Given the description of an element on the screen output the (x, y) to click on. 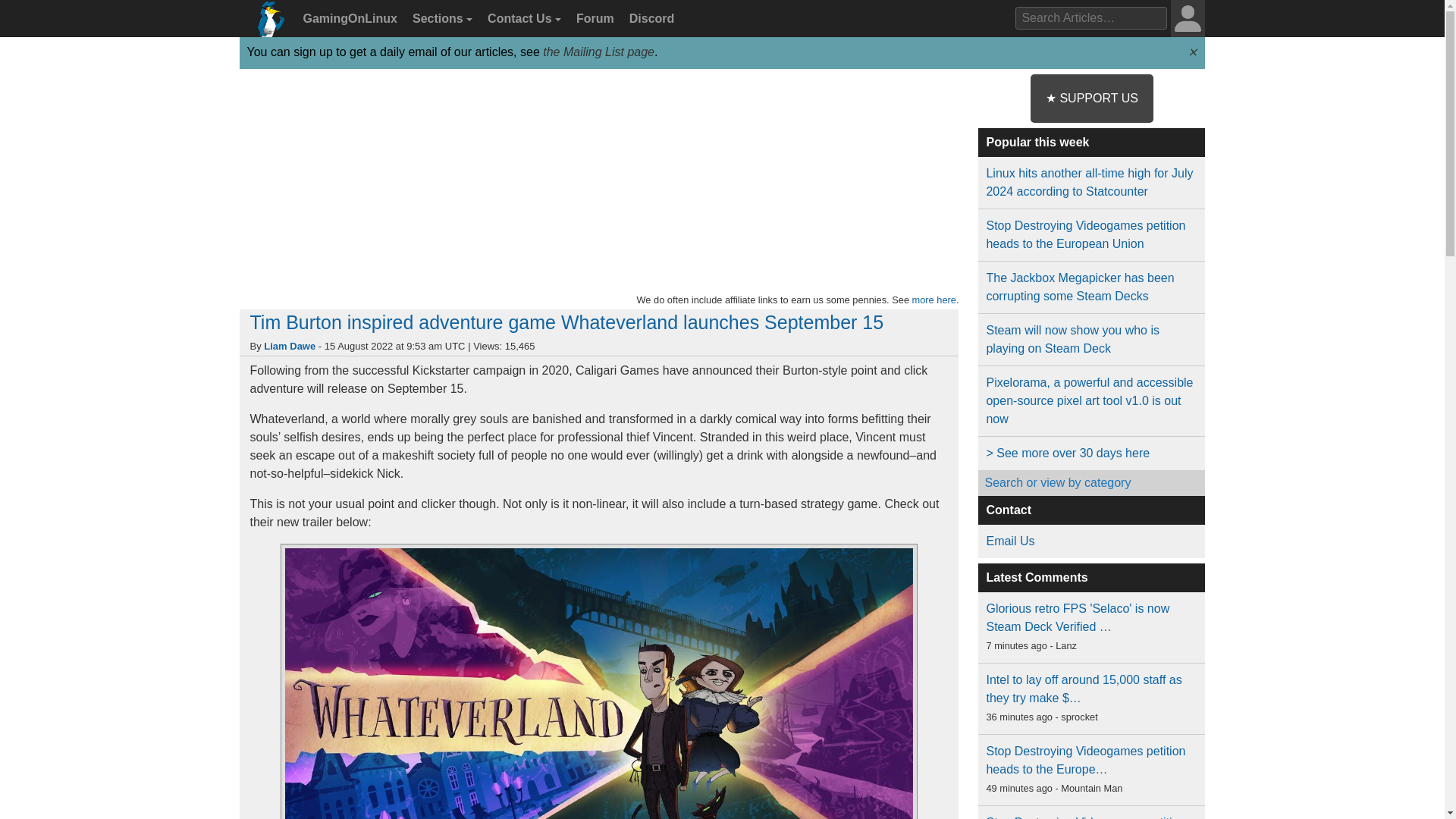
Discord (649, 19)
the Mailing List page (598, 51)
GamingOnLinux Home (267, 23)
Contact Us (522, 19)
GamingOnLinux (348, 19)
Forum (593, 19)
Sections (440, 19)
